Given the description of an element on the screen output the (x, y) to click on. 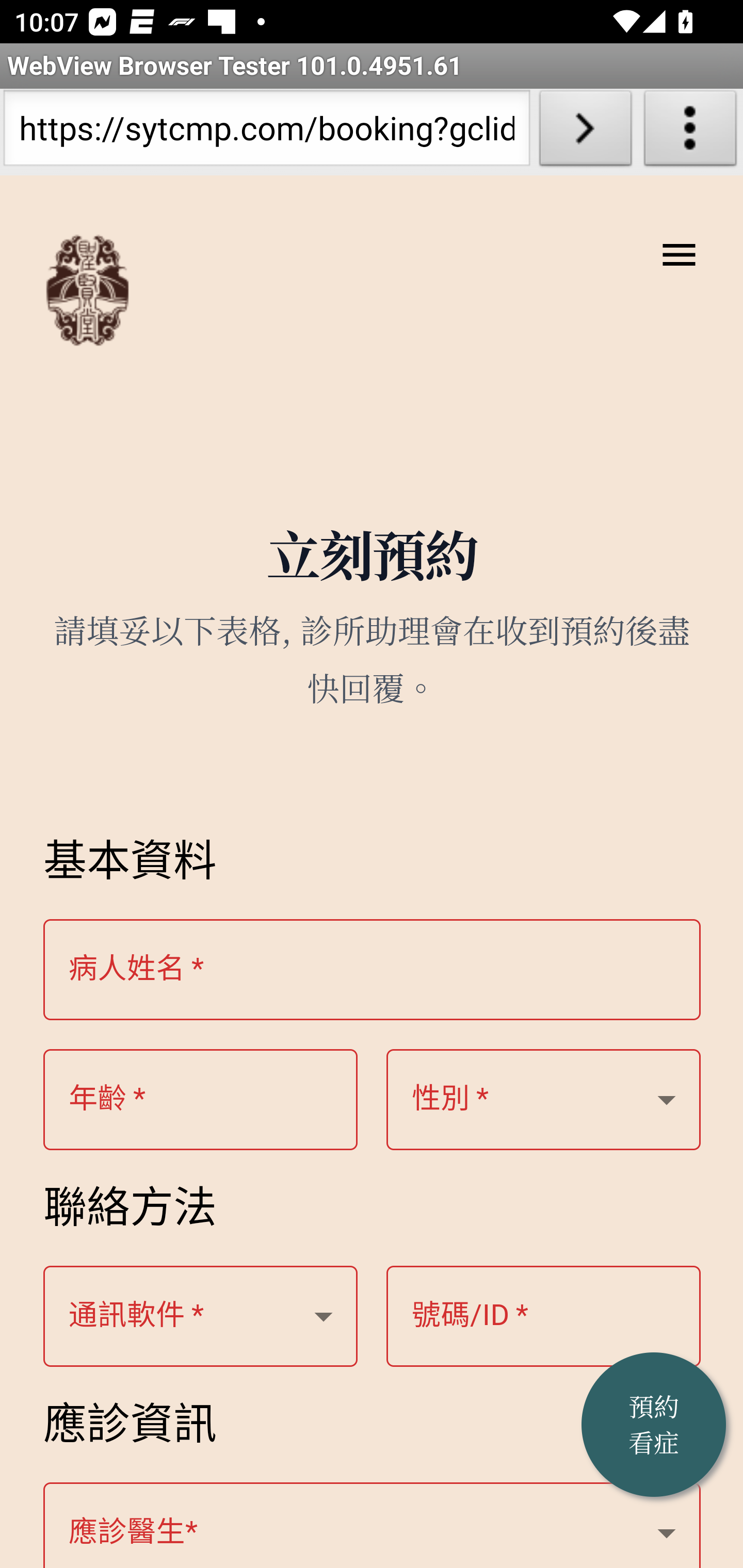
Load URL (585, 132)
About WebView (690, 132)
年齡 性別 號碼/ID (200, 1100)
年齡 (544, 1100)
年齡 (107, 1099)
通訊軟件 ​ (200, 1316)
通訊軟件 (136, 1316)
預約 看症 (654, 1425)
​ (372, 1524)
